Given the description of an element on the screen output the (x, y) to click on. 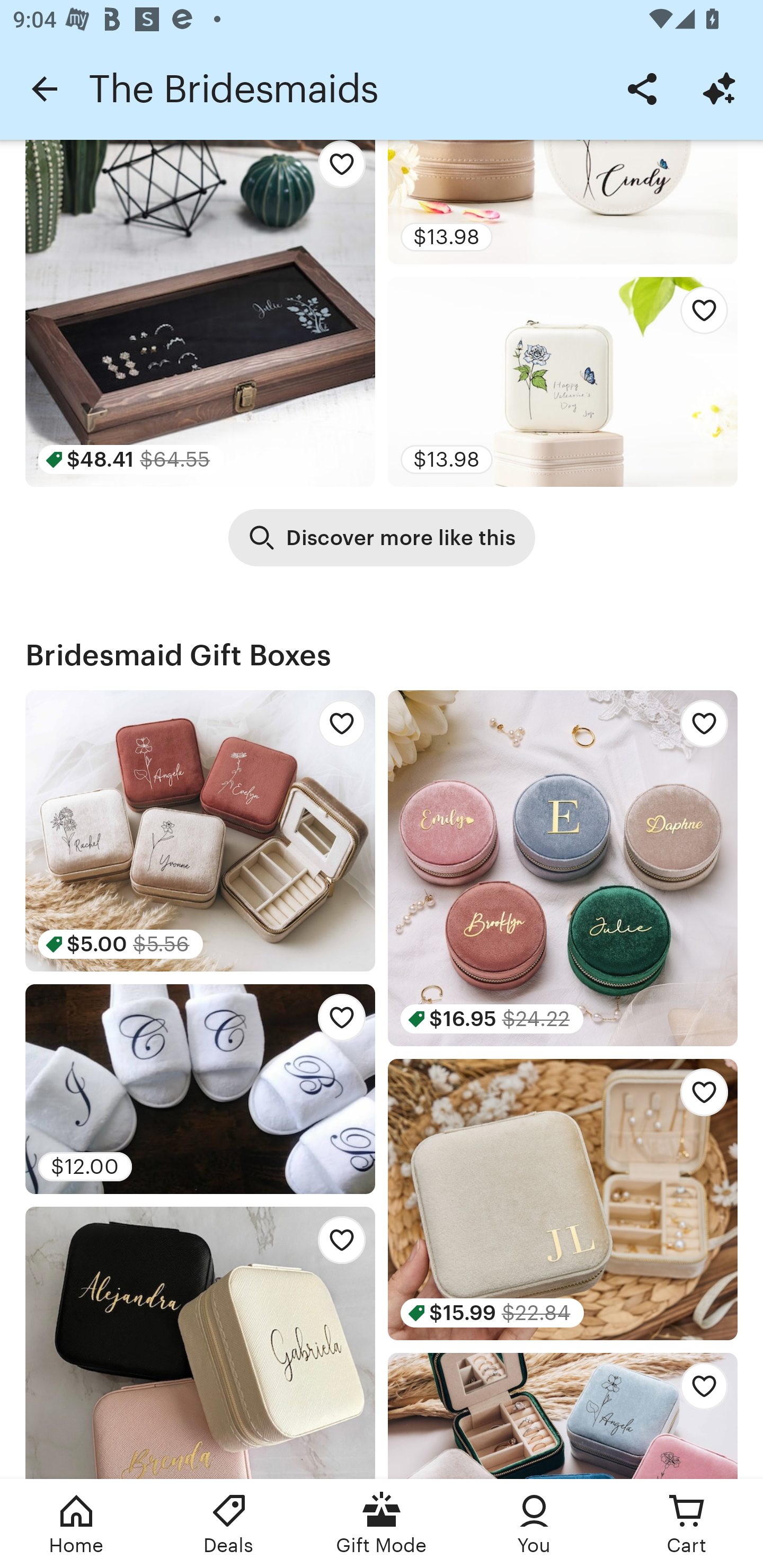
Back (44, 88)
Sale price: $48.41 $48.41 $64.55 (200, 312)
$13.98 (562, 381)
Discover more like this (381, 537)
Sale price: $5.00 $5.00 $5.56 (200, 830)
Sale price: $16.95 $16.95 $24.22 (562, 867)
$12.00 (200, 1088)
Sale price: $15.99 $15.99 $22.84 (562, 1199)
Home (76, 1523)
Deals (228, 1523)
You (533, 1523)
Cart (686, 1523)
